Given the description of an element on the screen output the (x, y) to click on. 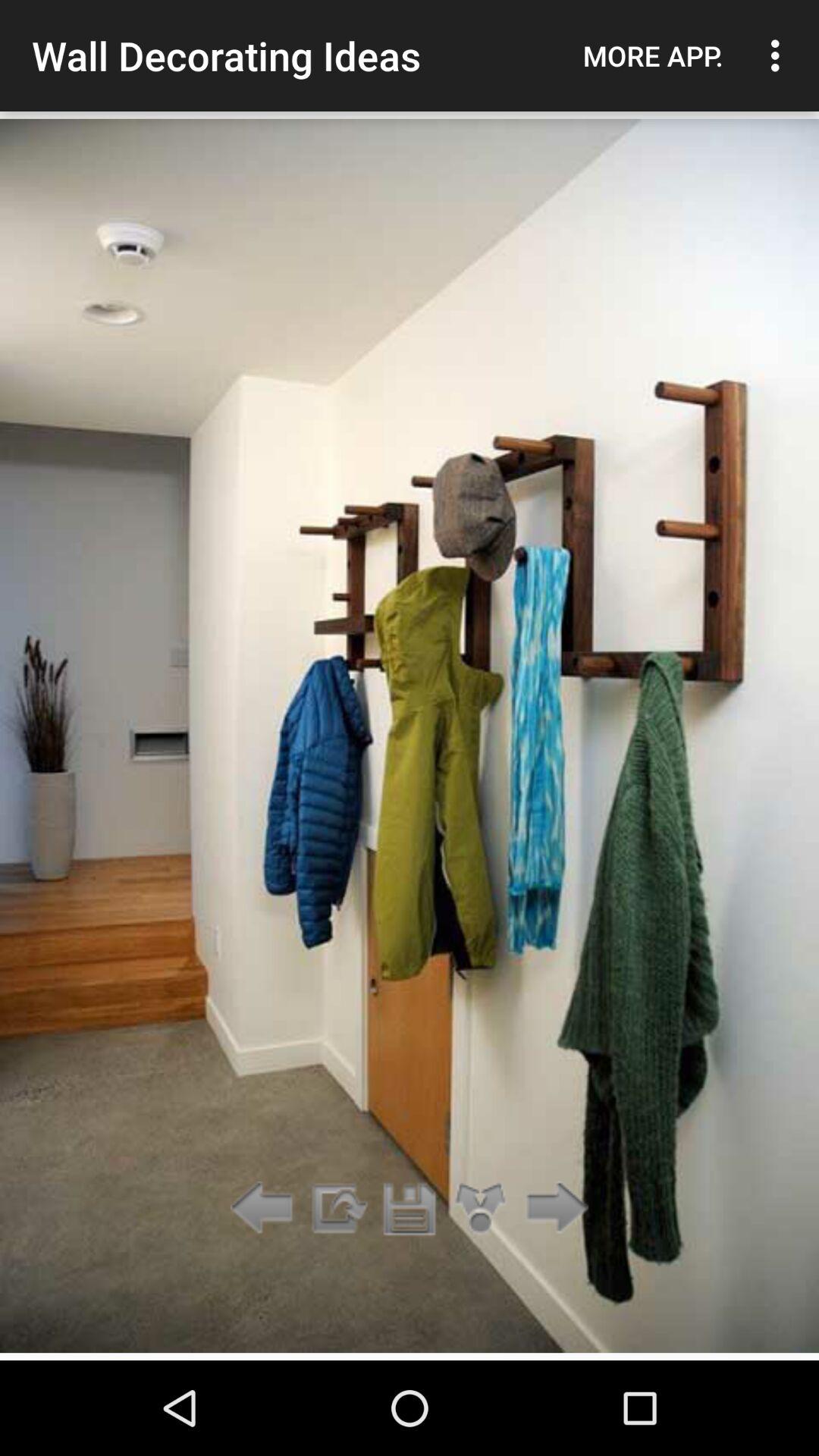
select the more app. item (653, 55)
